Given the description of an element on the screen output the (x, y) to click on. 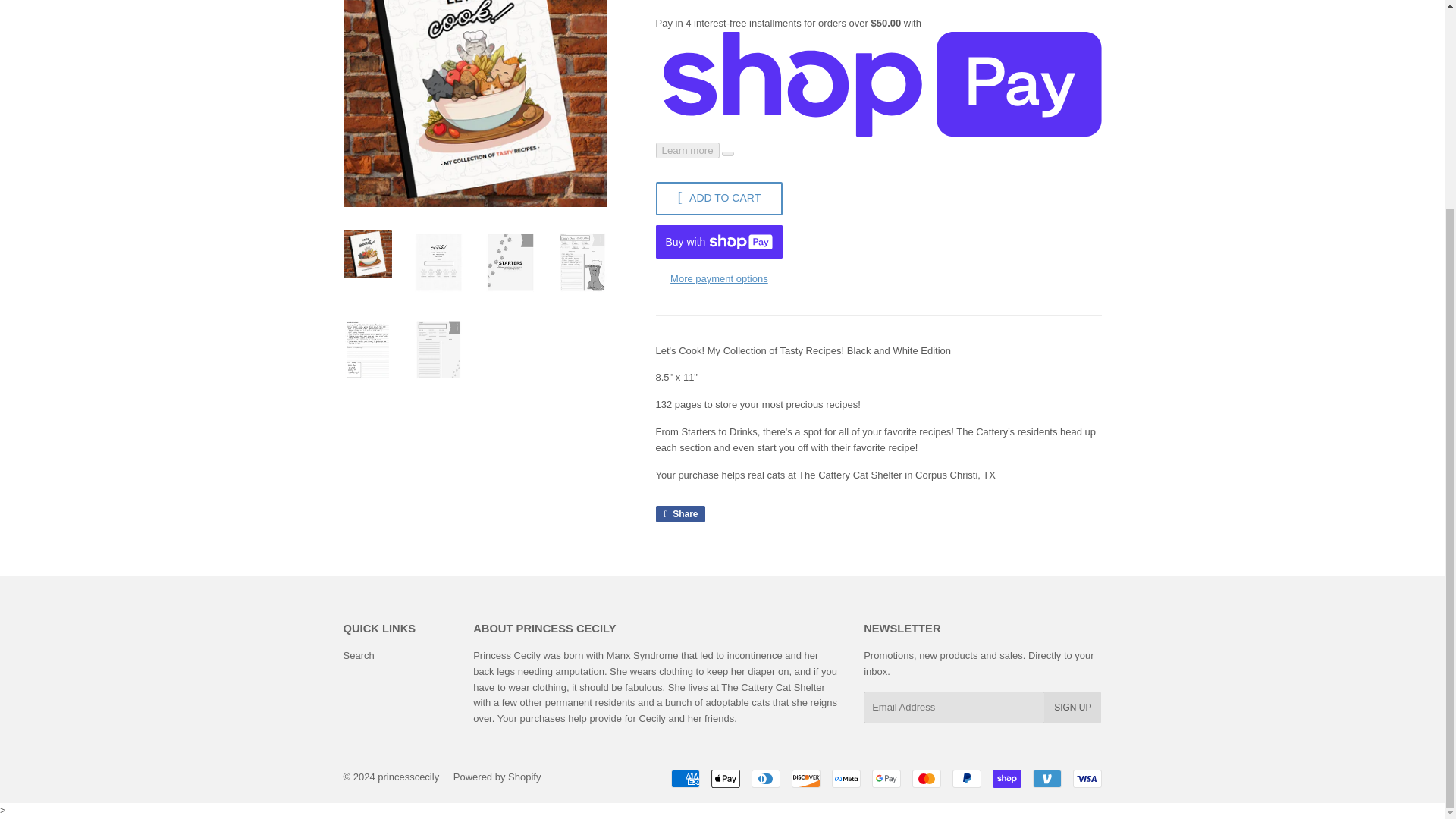
Mastercard (925, 778)
Visa (1085, 778)
Google Pay (886, 778)
Discover (806, 778)
ADD TO CART (719, 198)
Apple Pay (725, 778)
Share on Facebook (679, 514)
Shop Pay (1005, 778)
American Express (683, 778)
Venmo (1046, 778)
SIGN UP (1071, 707)
Powered by Shopify (496, 776)
princesscecily (408, 776)
Diners Club (764, 778)
PayPal (966, 778)
